Given the description of an element on the screen output the (x, y) to click on. 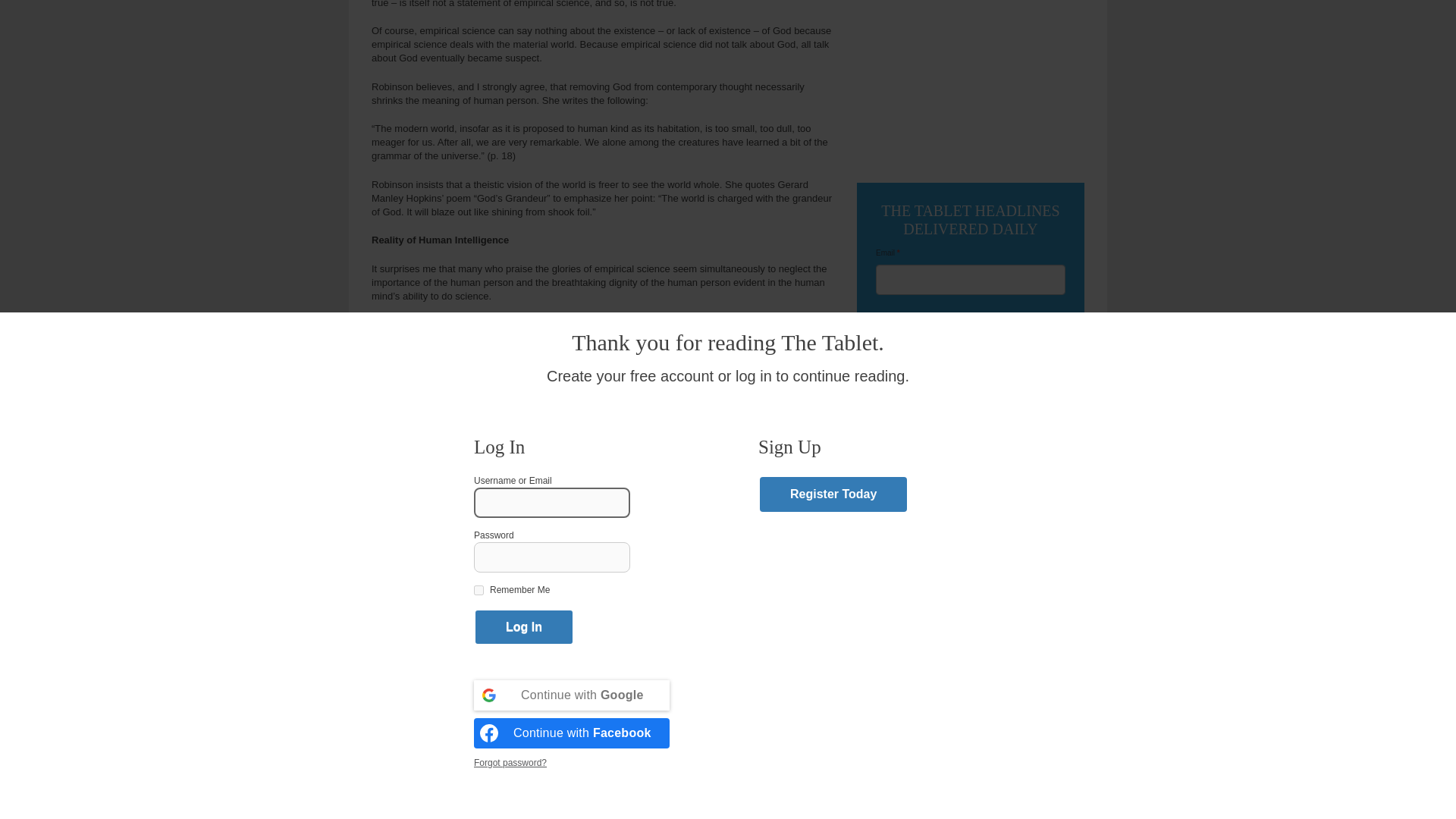
3rd party ad content (970, 84)
